Given the description of an element on the screen output the (x, y) to click on. 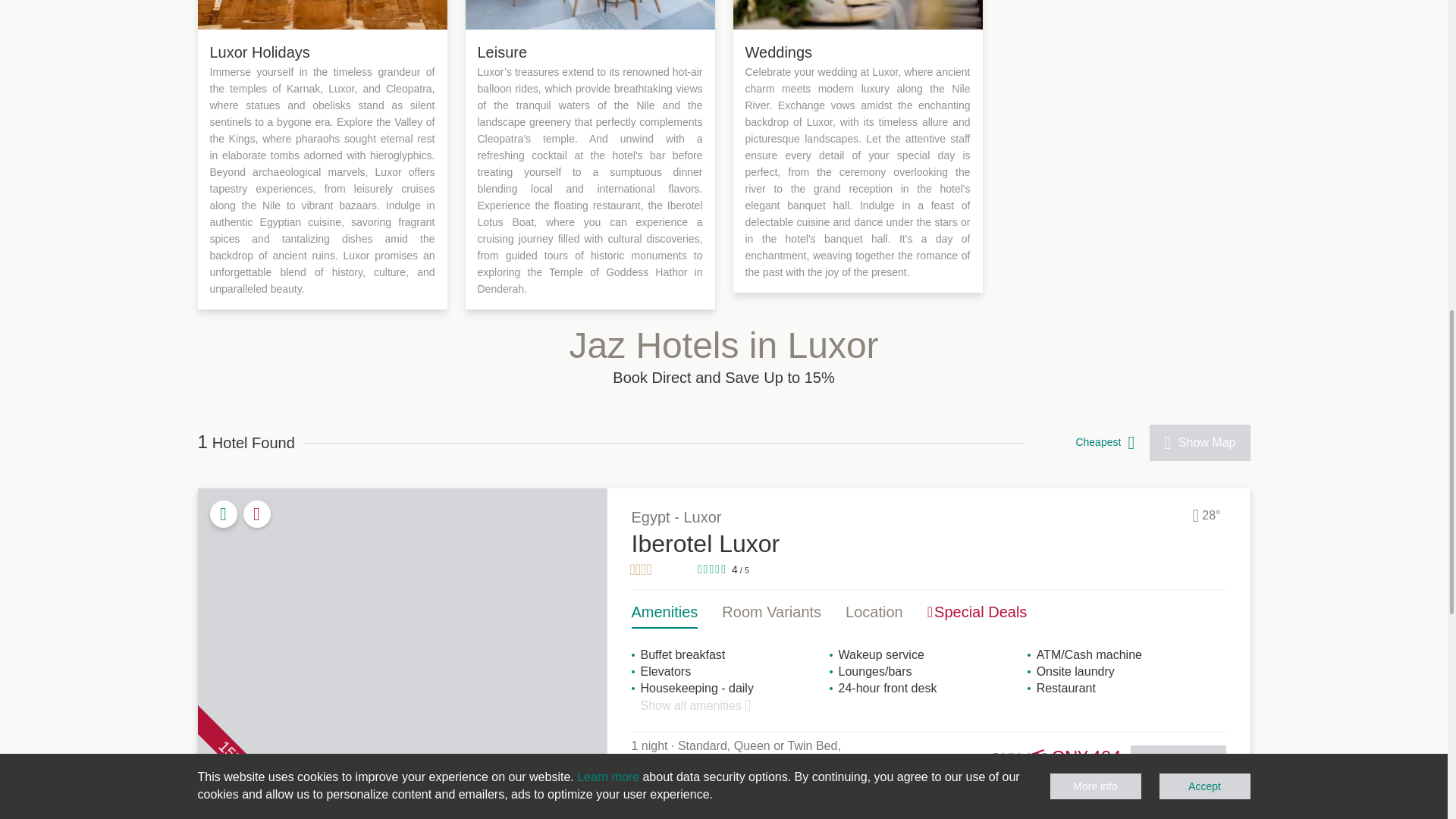
Show all amenities (694, 705)
View details (1178, 763)
Show Map (1199, 443)
